Given the description of an element on the screen output the (x, y) to click on. 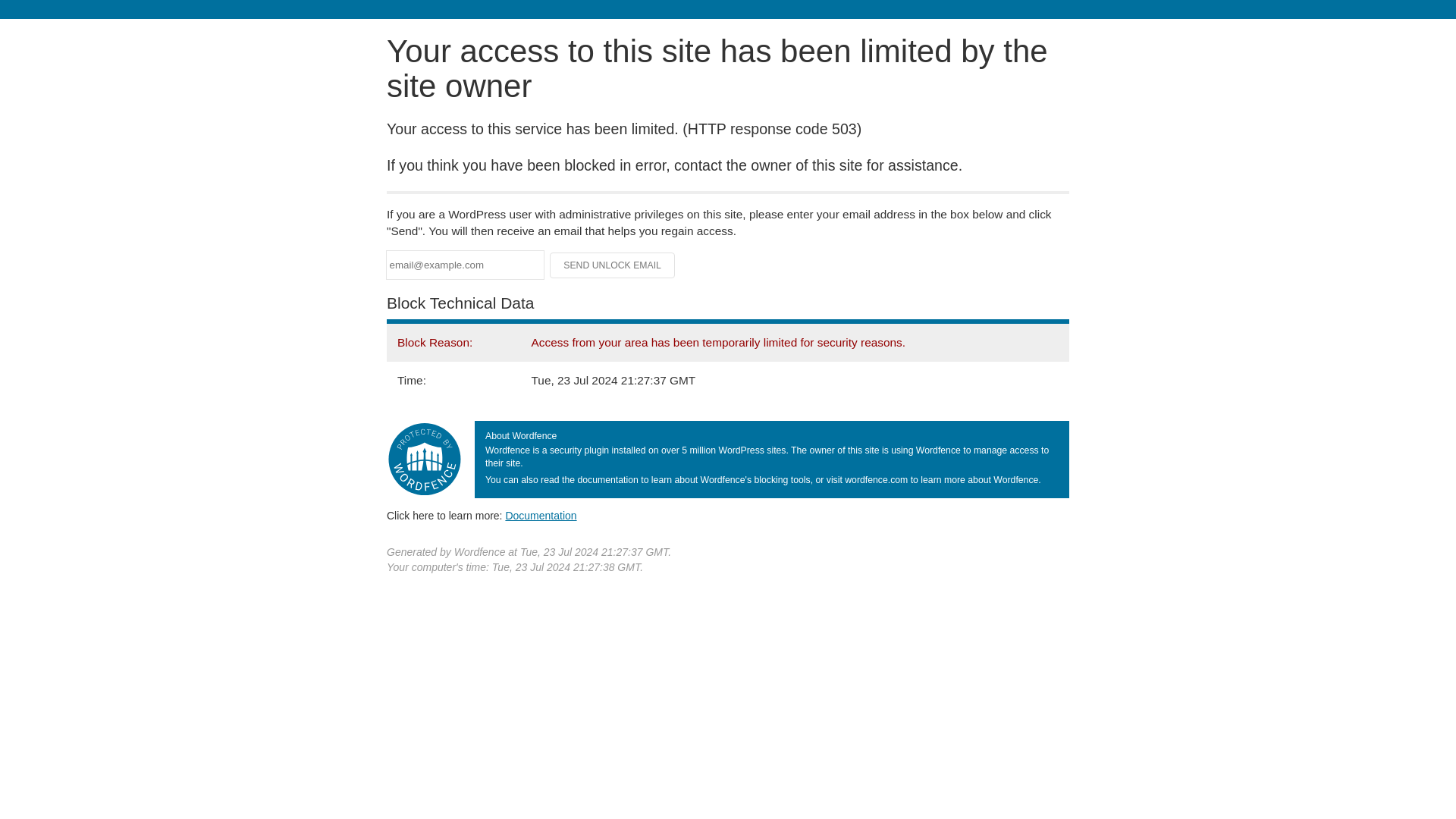
Send Unlock Email (612, 265)
Documentation (540, 515)
Send Unlock Email (612, 265)
